Given the description of an element on the screen output the (x, y) to click on. 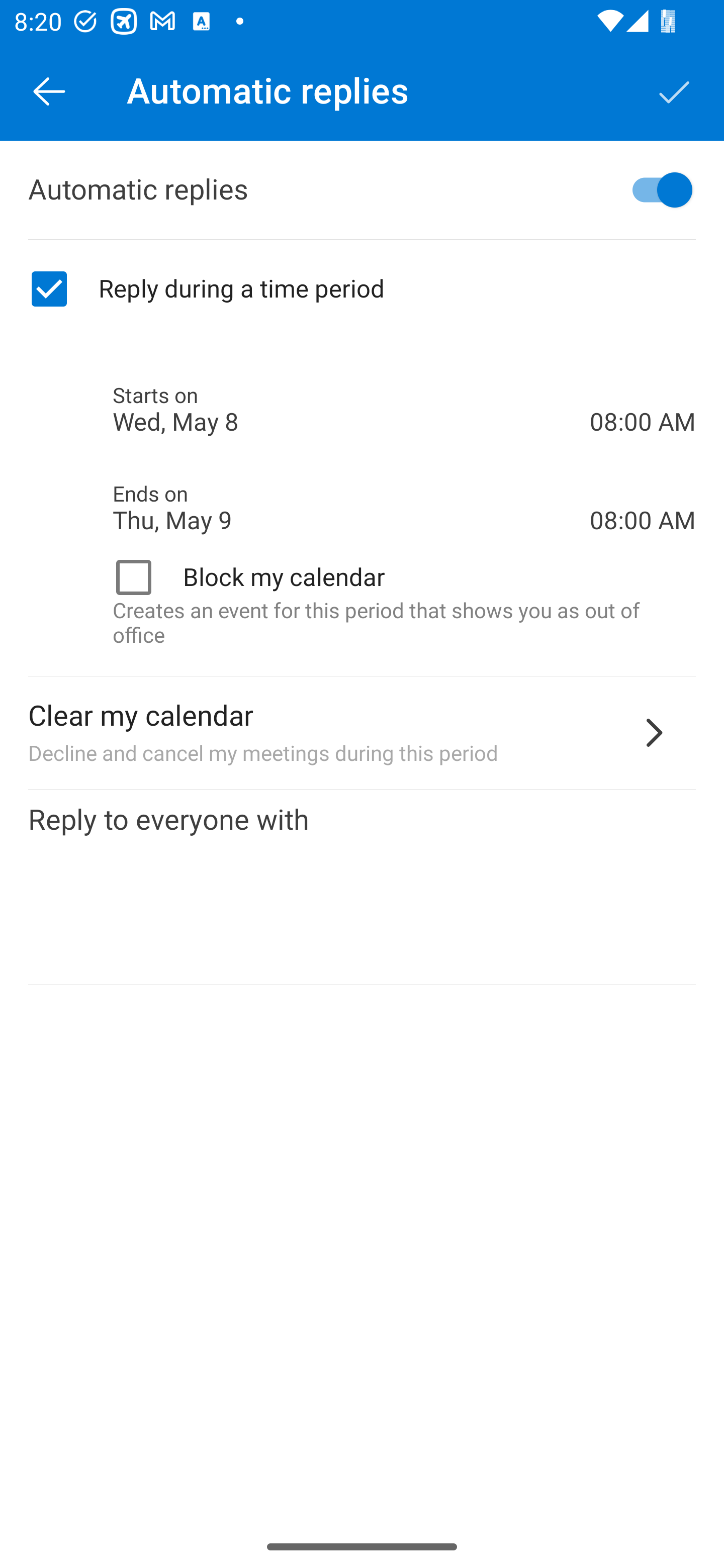
Back (49, 90)
Save (674, 90)
Automatic replies (362, 190)
Reply during a time period (362, 288)
08:00 AM (642, 387)
Starts on Wed, May 8 (351, 409)
08:00 AM (642, 485)
Ends on Thu, May 9 (351, 507)
Reply to everyone with Edit box 
 (361, 887)
